Given the description of an element on the screen output the (x, y) to click on. 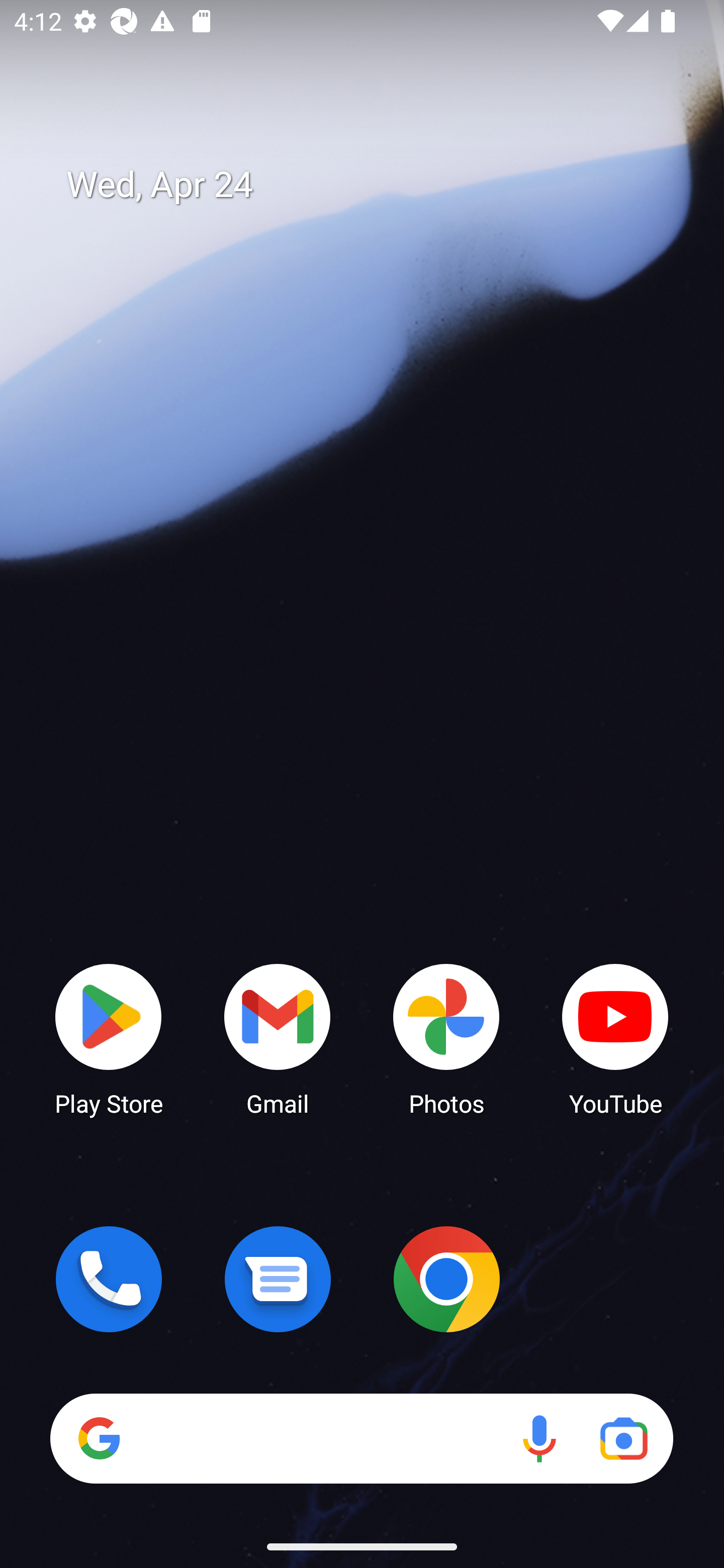
Wed, Apr 24 (375, 184)
Play Store (108, 1038)
Gmail (277, 1038)
Photos (445, 1038)
YouTube (615, 1038)
Phone (108, 1279)
Messages (277, 1279)
Chrome (446, 1279)
Search Voice search Google Lens (361, 1438)
Voice search (539, 1438)
Google Lens (623, 1438)
